Given the description of an element on the screen output the (x, y) to click on. 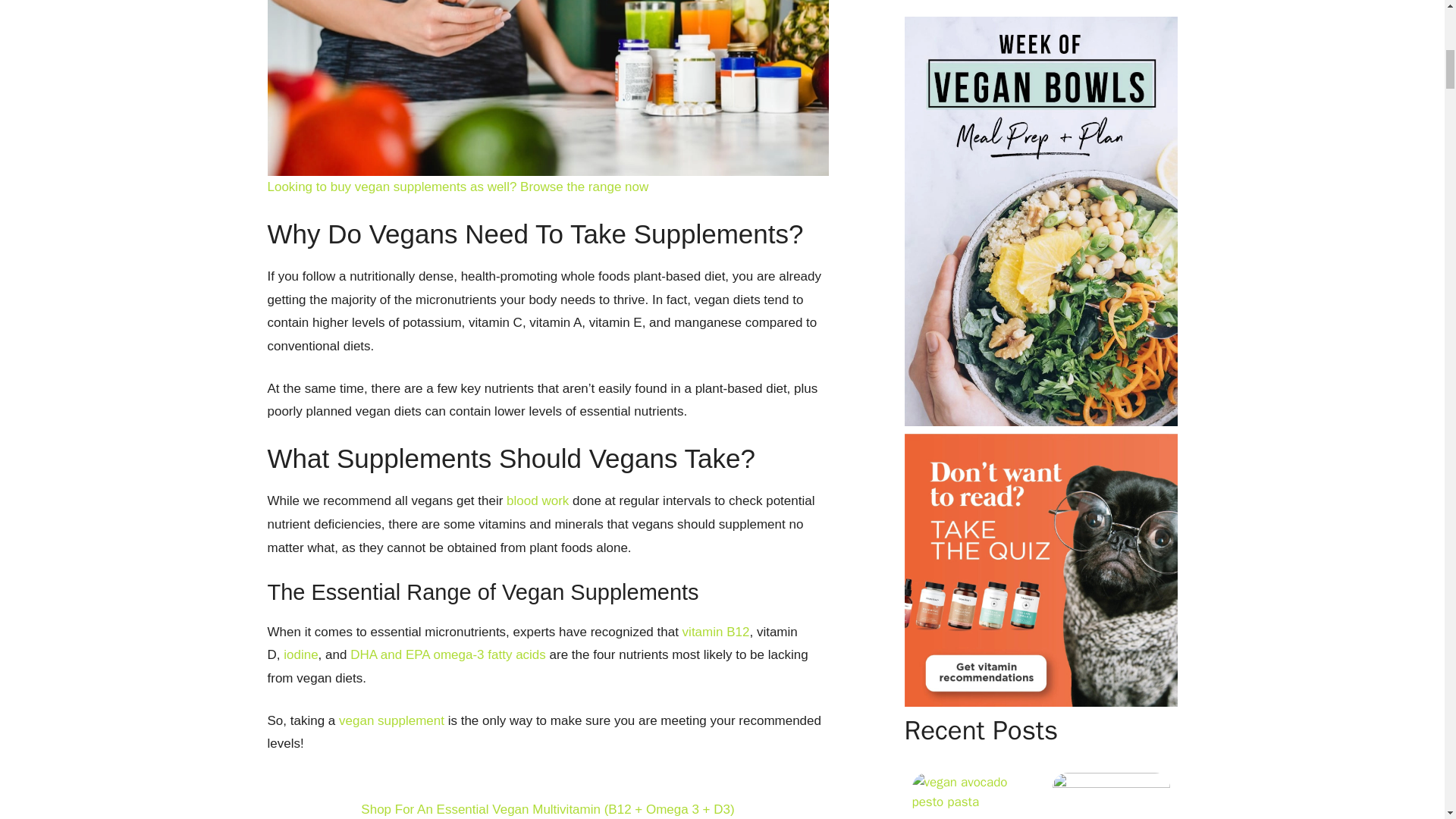
iodine (300, 654)
Avocado Vegan Pesto Pasta (970, 796)
vitamin B12 (715, 631)
vegan supplement (391, 720)
blood work (537, 500)
DHA and EPA omega-3 fatty acids (448, 654)
